Given the description of an element on the screen output the (x, y) to click on. 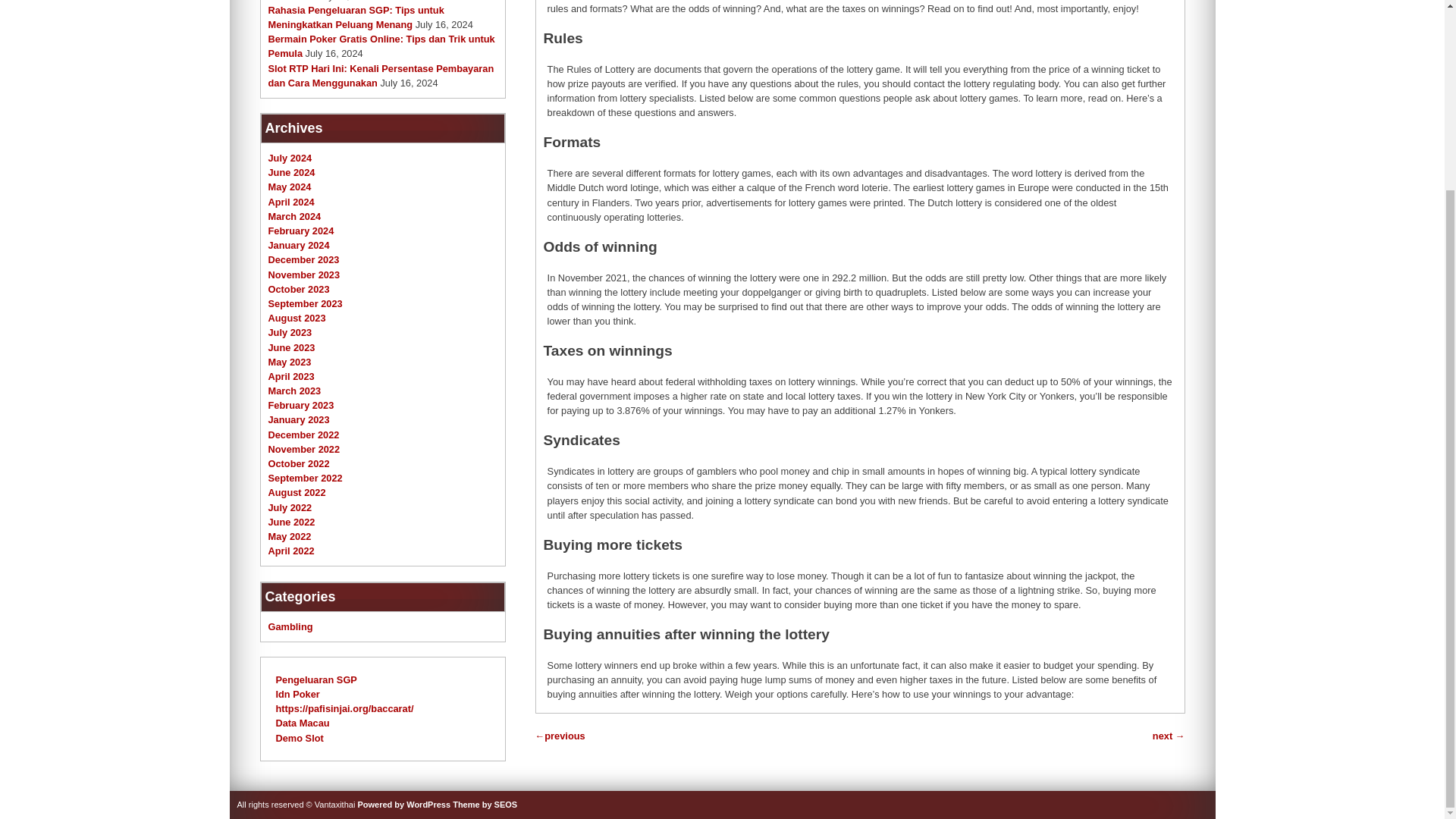
August 2023 (296, 317)
January 2023 (298, 419)
September 2023 (304, 303)
July 2024 (290, 157)
June 2023 (291, 347)
January 2024 (298, 244)
December 2022 (303, 434)
February 2023 (300, 405)
February 2024 (300, 230)
August 2022 (296, 491)
October 2022 (298, 463)
March 2023 (294, 390)
Bermain Poker Gratis Online: Tips dan Trik untuk Pemula (381, 45)
